Given the description of an element on the screen output the (x, y) to click on. 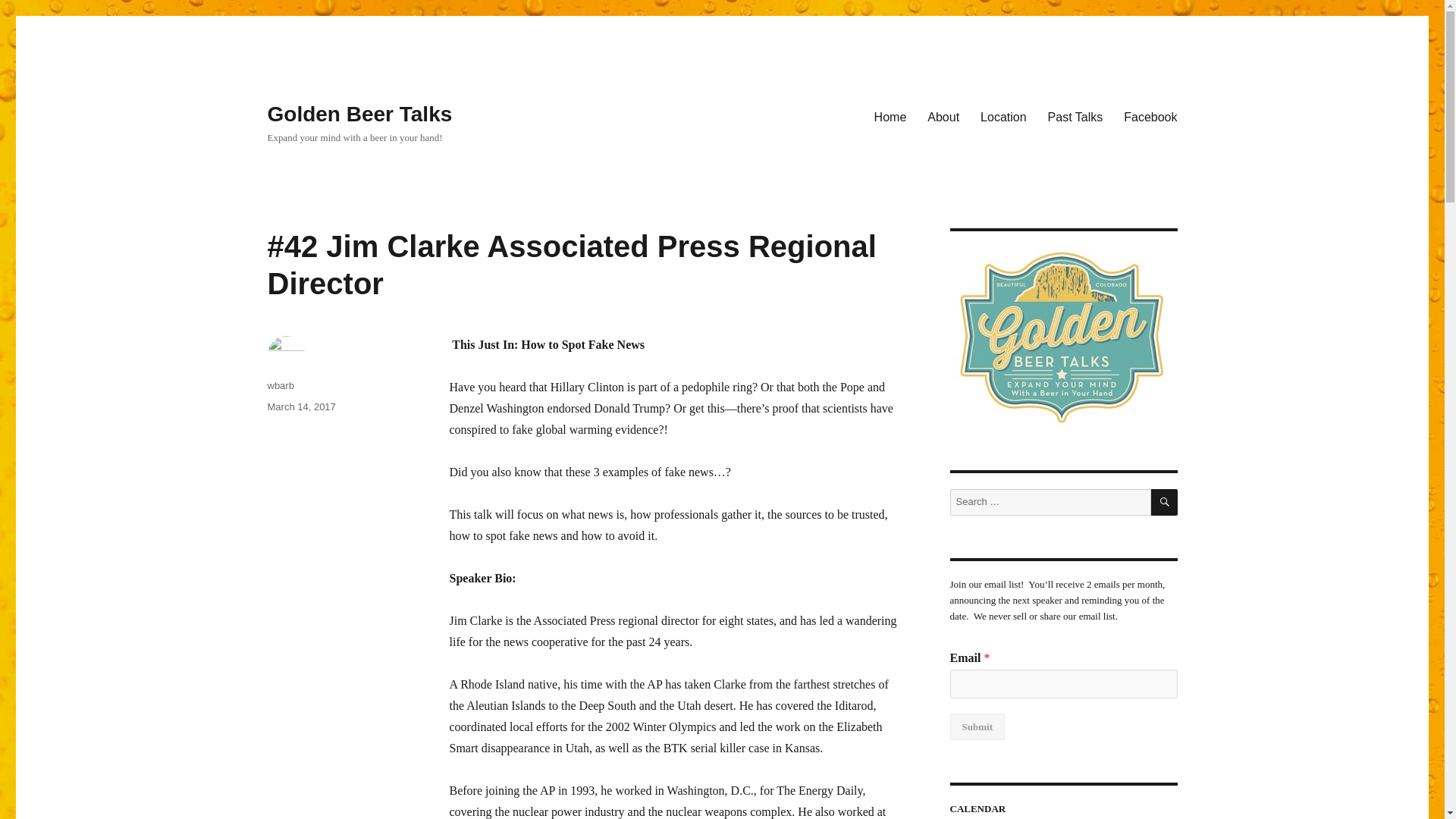
Golden Beer Talks (358, 114)
Past Talks (1074, 116)
March 14, 2017 (300, 406)
SEARCH (1164, 501)
About (943, 116)
Location (1002, 116)
Home (890, 116)
Facebook (1150, 116)
Submit (976, 726)
wbarb (280, 385)
